Given the description of an element on the screen output the (x, y) to click on. 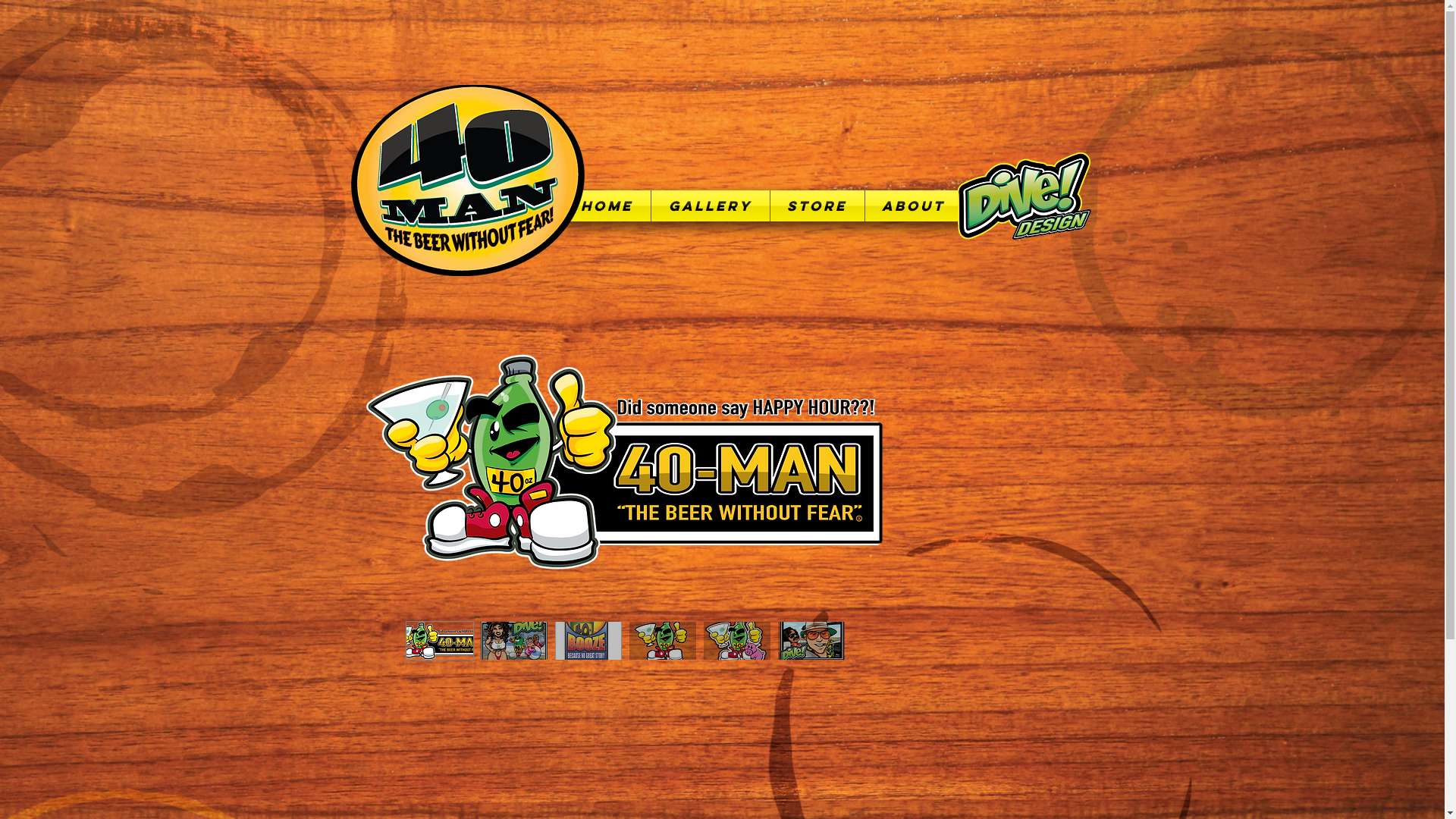
40-man-logo.png Element type: hover (466, 180)
Home Element type: text (605, 205)
STORE Element type: text (817, 205)
Gallery Element type: text (709, 205)
About Element type: text (912, 205)
